Given the description of an element on the screen output the (x, y) to click on. 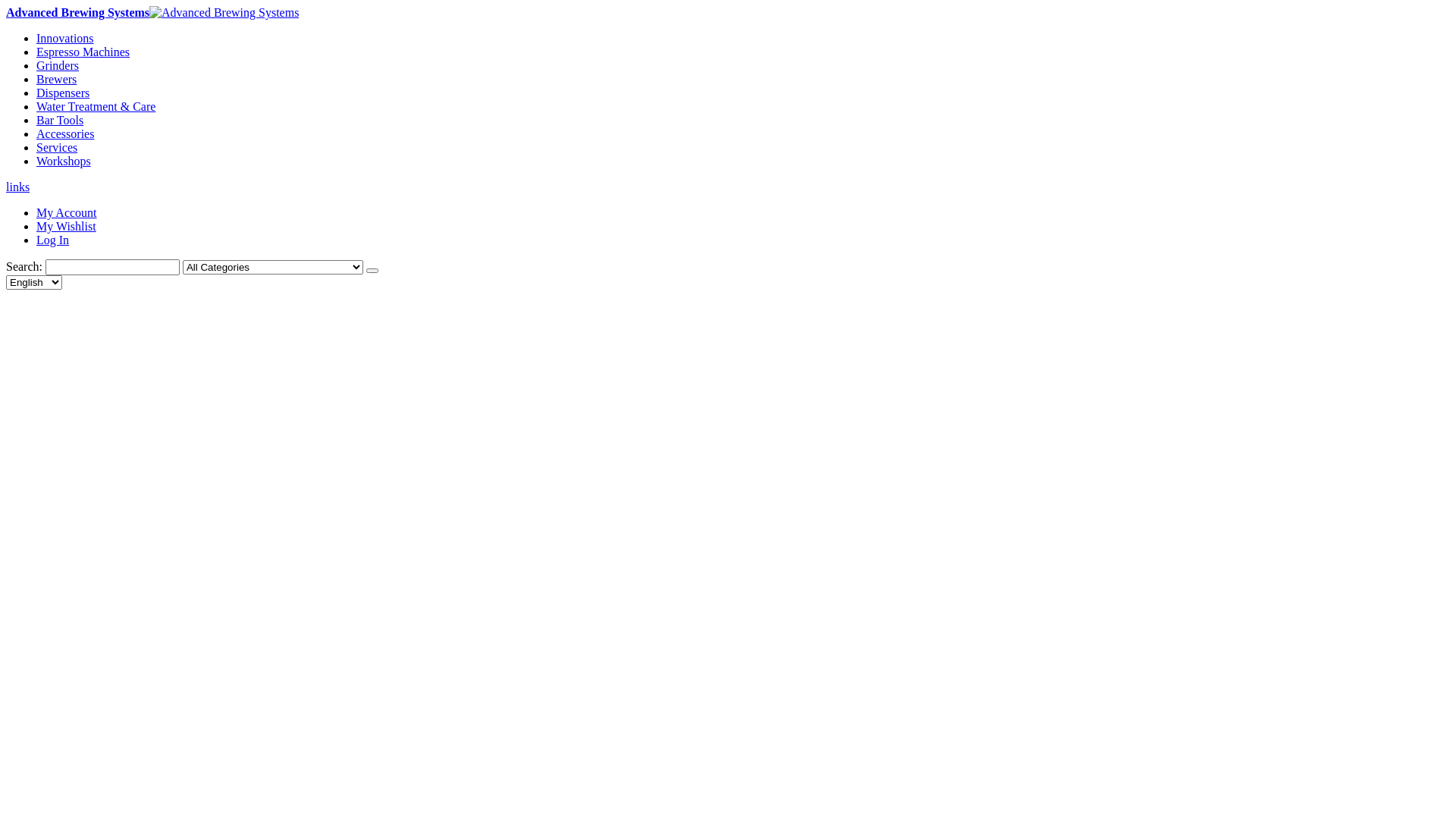
Workshops Element type: text (63, 160)
My Wishlist Element type: text (66, 225)
Bar Tools Element type: text (59, 119)
Services Element type: text (56, 147)
Water Treatment & Care Element type: text (95, 106)
Grinders Element type: text (57, 65)
My Account Element type: text (66, 212)
Advanced Brewing Systems Element type: text (152, 12)
links Element type: text (17, 186)
Dispensers Element type: text (62, 92)
Brewers Element type: text (56, 78)
Innovations Element type: text (65, 37)
Espresso Machines Element type: text (82, 51)
Accessories Element type: text (65, 133)
Search Element type: hover (372, 270)
Log In Element type: text (52, 239)
